Given the description of an element on the screen output the (x, y) to click on. 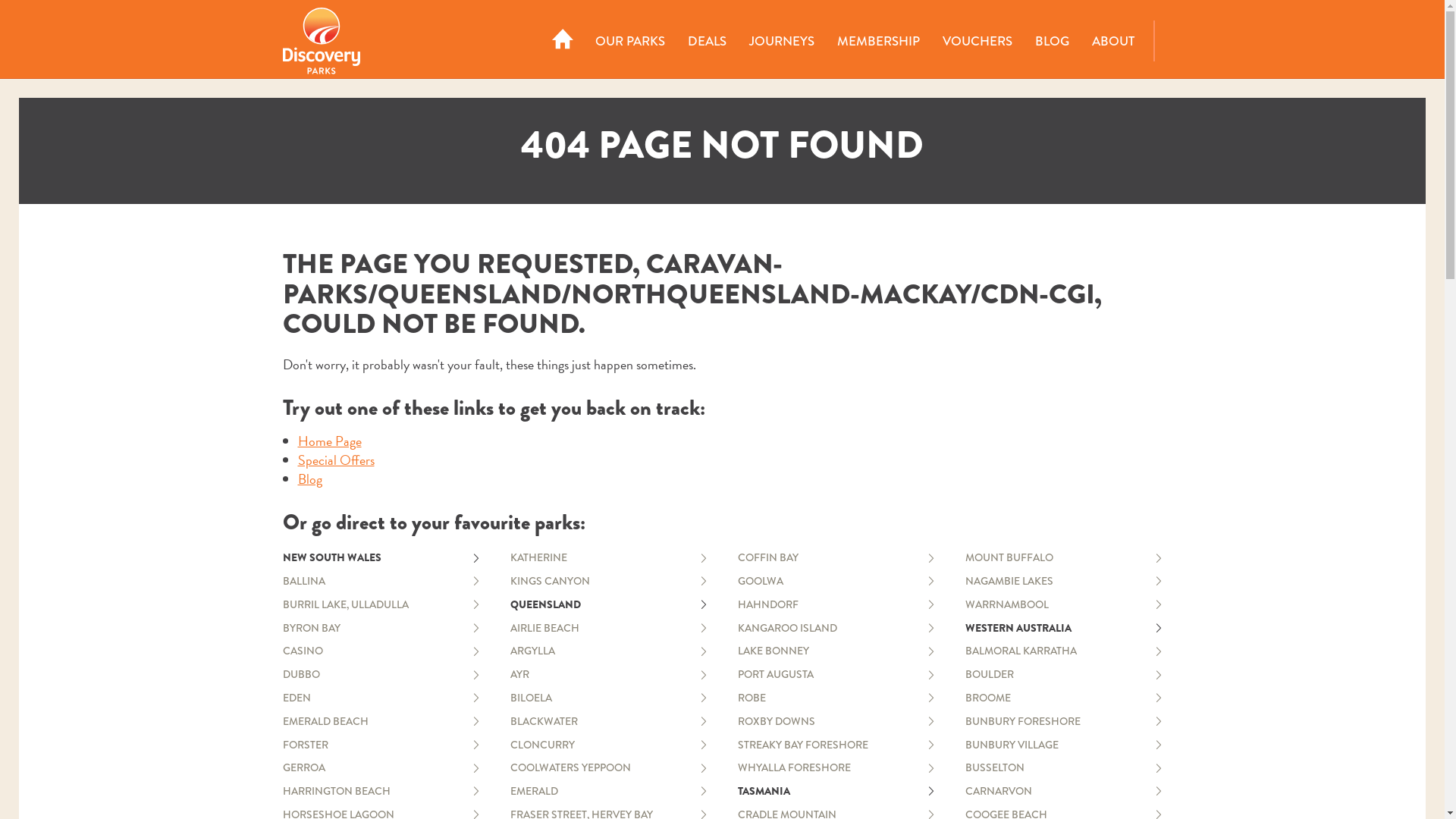
EMERALD BEACH Element type: text (380, 721)
JOURNEYS Element type: text (781, 41)
BOULDER Element type: text (1062, 674)
COFFIN BAY Element type: text (835, 557)
EDEN Element type: text (380, 697)
WHYALLA FORESHORE Element type: text (835, 767)
EMERALD Element type: text (607, 791)
BLOG Element type: text (1051, 41)
BUSSELTON Element type: text (1062, 767)
BYRON BAY Element type: text (380, 628)
WARRNAMBOOL Element type: text (1062, 604)
Home Page Element type: text (328, 440)
ROXBY DOWNS Element type: text (835, 721)
WESTERN AUSTRALIA Element type: text (1062, 628)
ROBE Element type: text (835, 697)
COOLWATERS YEPPOON Element type: text (607, 767)
BROOME Element type: text (1062, 697)
HAHNDORF Element type: text (835, 604)
BALLINA Element type: text (380, 581)
LAKE BONNEY Element type: text (835, 650)
BLACKWATER Element type: text (607, 721)
HARRINGTON BEACH Element type: text (380, 791)
DUBBO Element type: text (380, 674)
HOME Element type: text (562, 40)
GOOLWA Element type: text (835, 581)
BALMORAL KARRATHA Element type: text (1062, 650)
CLONCURRY Element type: text (607, 744)
AIRLIE BEACH Element type: text (607, 628)
BURRIL LAKE, ULLADULLA Element type: text (380, 604)
NEW SOUTH WALES Element type: text (380, 557)
GERROA Element type: text (380, 767)
OUR PARKS Element type: text (629, 41)
QUEENSLAND Element type: text (607, 604)
Special Offers Element type: text (335, 459)
AYR Element type: text (607, 674)
Blog Element type: text (309, 478)
DEALS Element type: text (706, 41)
NAGAMBIE LAKES Element type: text (1062, 581)
ABOUT Element type: text (1112, 41)
KINGS CANYON Element type: text (607, 581)
KATHERINE Element type: text (607, 557)
CASINO Element type: text (380, 650)
MEMBERSHIP Element type: text (877, 41)
CARNARVON Element type: text (1062, 791)
BILOELA Element type: text (607, 697)
KANGAROO ISLAND Element type: text (835, 628)
BUNBURY FORESHORE Element type: text (1062, 721)
VOUCHERS Element type: text (977, 41)
ARGYLLA Element type: text (607, 650)
STREAKY BAY FORESHORE Element type: text (835, 744)
TASMANIA Element type: text (835, 791)
MOUNT BUFFALO Element type: text (1062, 557)
BUNBURY VILLAGE Element type: text (1062, 744)
FORSTER Element type: text (380, 744)
PORT AUGUSTA Element type: text (835, 674)
